Given the description of an element on the screen output the (x, y) to click on. 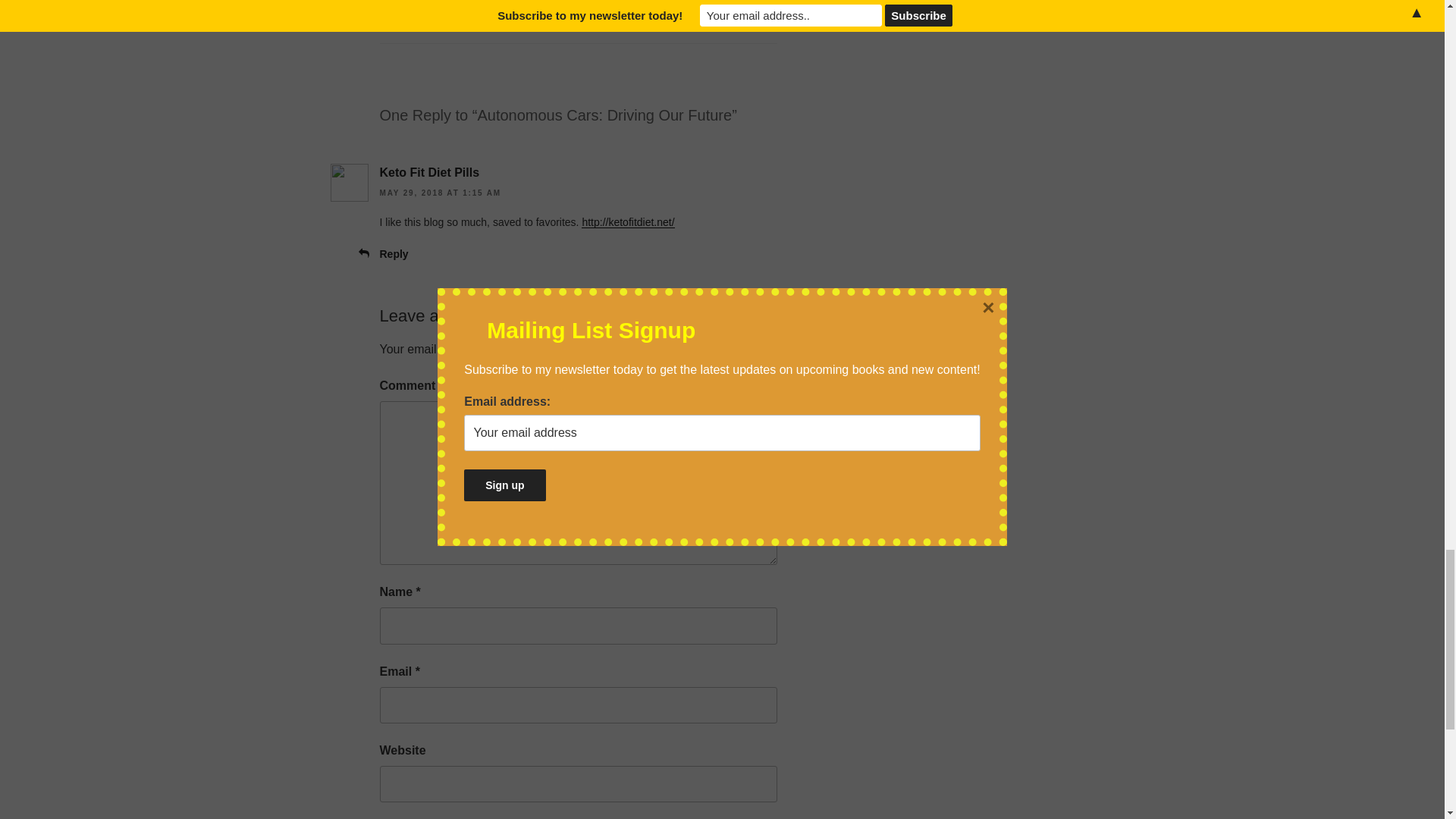
MAY 29, 2018 AT 1:15 AM (439, 193)
AUTONOMOUS (438, 12)
Reply (392, 254)
TECHNOLOGY (578, 12)
Keto Fit Diet Pills (428, 172)
CULTURE (509, 12)
